Given the description of an element on the screen output the (x, y) to click on. 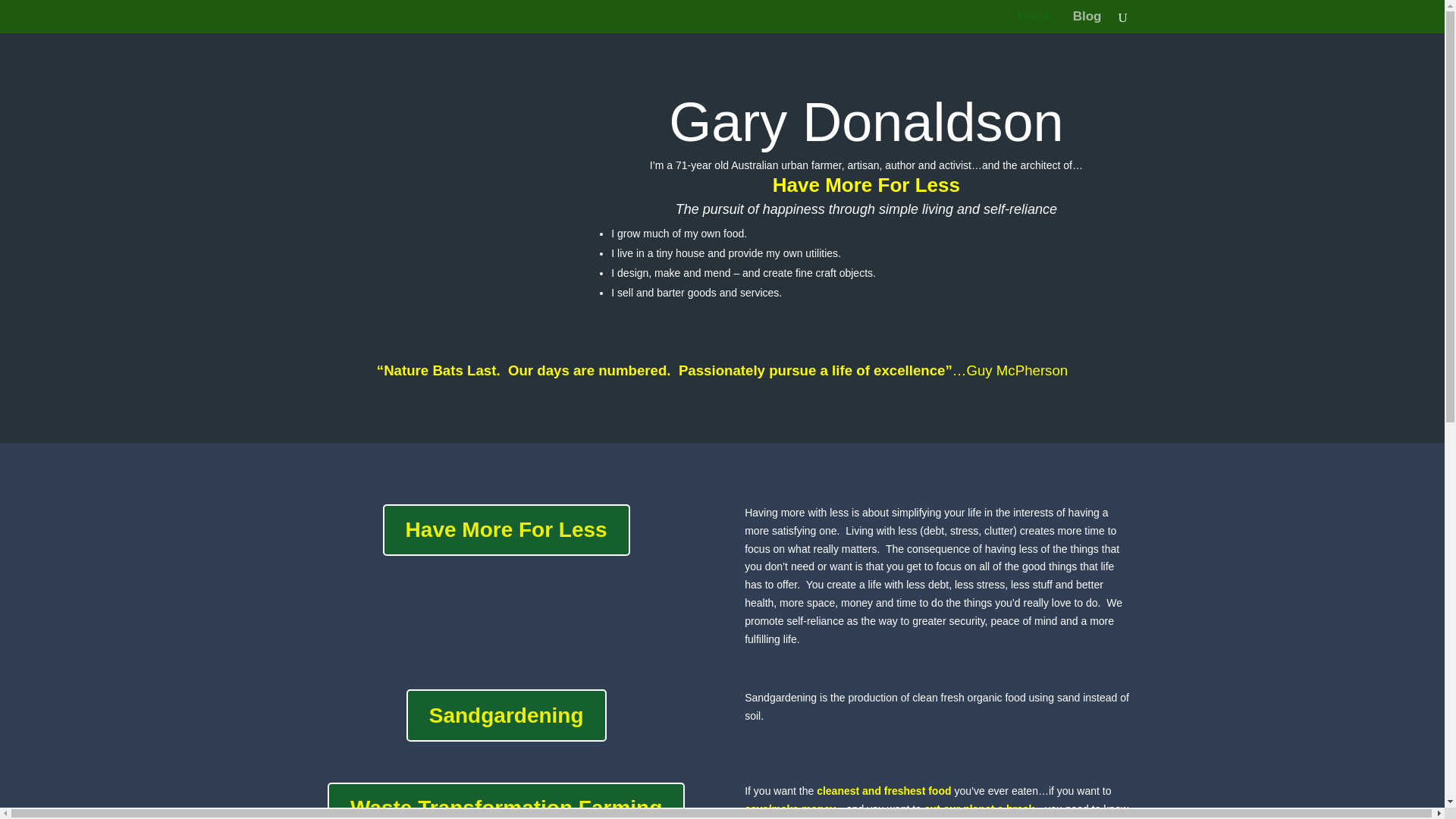
Sandgardening (506, 715)
Waste Transformation Farming (505, 800)
Home (1034, 22)
Have More For Less (506, 530)
Blog (1087, 22)
